Given the description of an element on the screen output the (x, y) to click on. 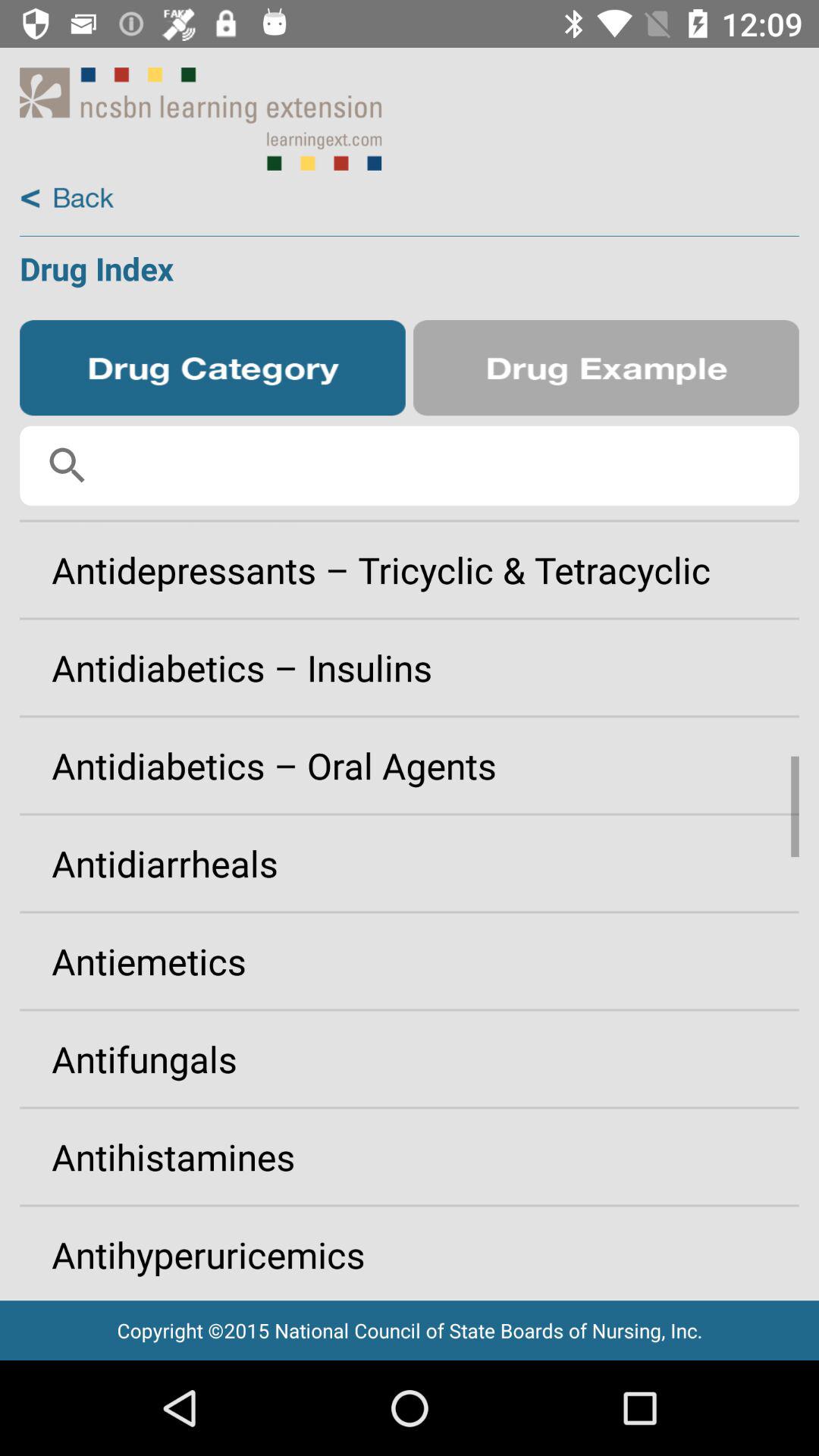
tap app above antifungals item (409, 960)
